Given the description of an element on the screen output the (x, y) to click on. 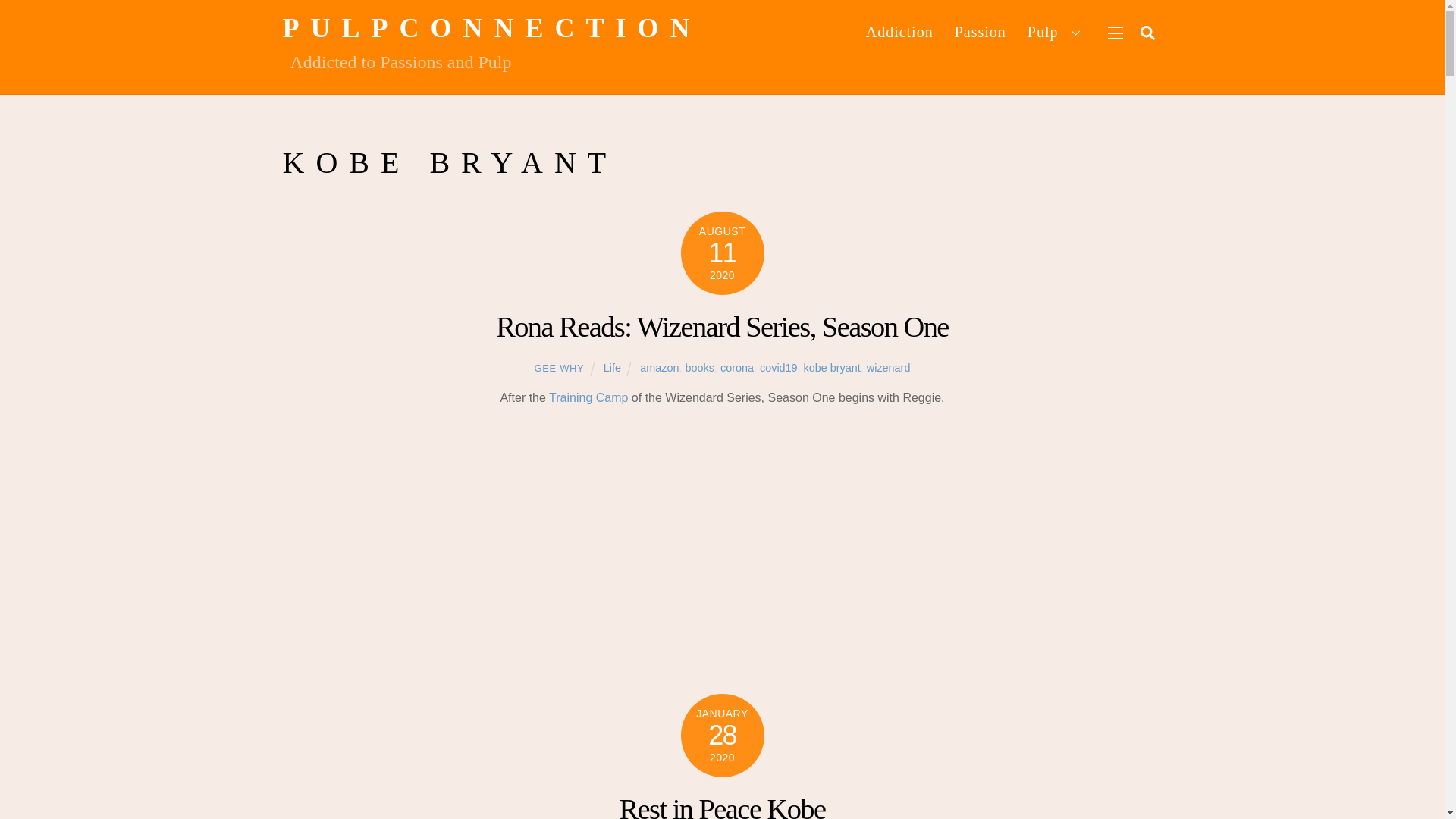
Training Camp (587, 397)
corona (737, 367)
Rest in Peace Kobe (722, 806)
PULPCONNECTION (491, 28)
GEE WHY (559, 367)
kobe bryant (831, 367)
Pulpconnection (491, 28)
Pulp (1055, 31)
Addiction (899, 31)
Search (1146, 31)
